Given the description of an element on the screen output the (x, y) to click on. 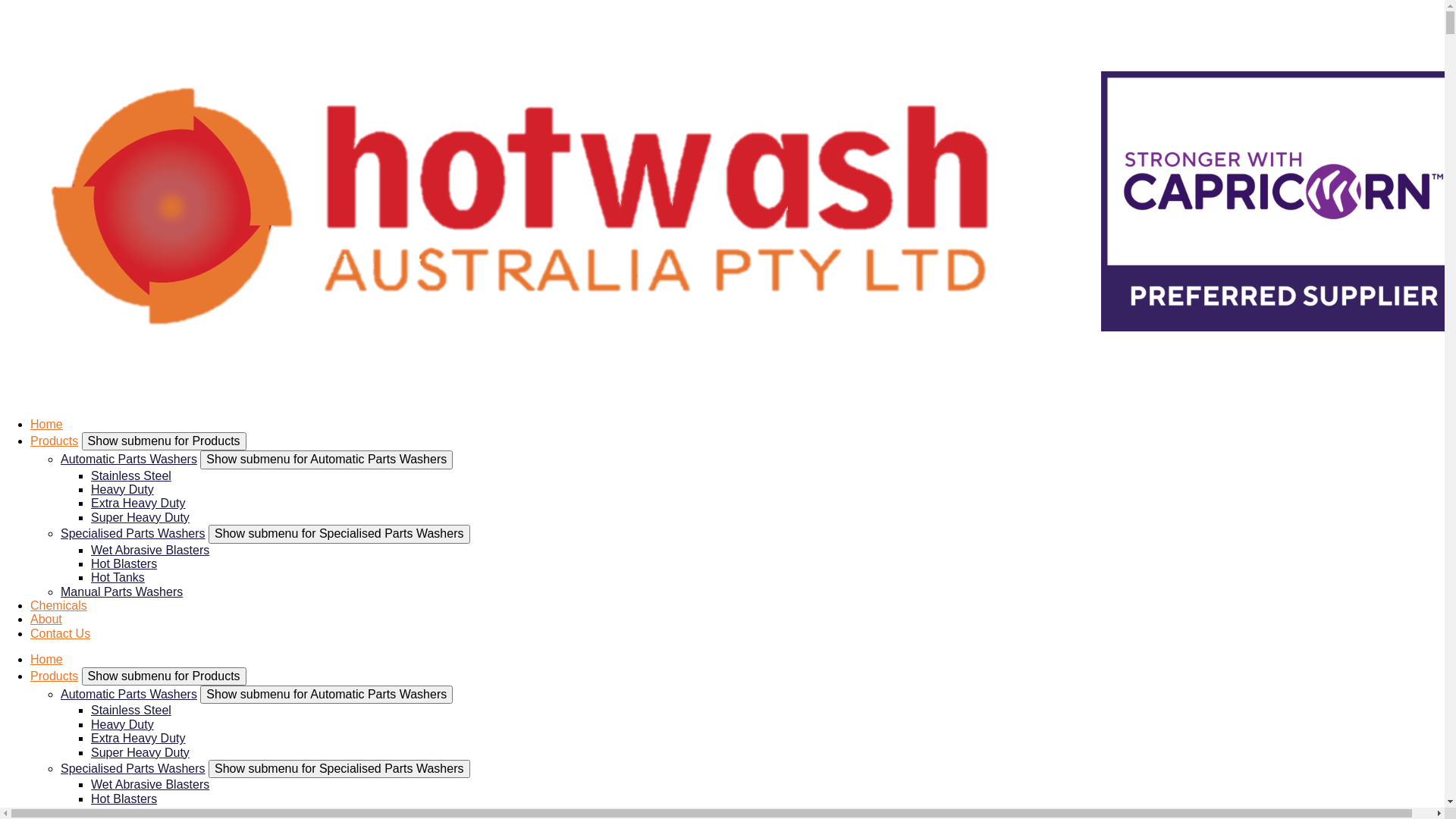
Manual Parts Washers Element type: text (121, 591)
Super Heavy Duty Element type: text (140, 517)
Heavy Duty Element type: text (122, 724)
Extra Heavy Duty Element type: text (138, 737)
About Element type: text (46, 618)
Stainless Steel Element type: text (131, 709)
Super Heavy Duty Element type: text (140, 752)
Automatic Parts Washers Element type: text (128, 693)
Automatic Parts Washers Element type: text (128, 458)
Contact Us Element type: text (60, 633)
Extra Heavy Duty Element type: text (138, 502)
Show submenu for Products Element type: text (163, 441)
Wet Abrasive Blasters Element type: text (150, 784)
Hot Tanks Element type: text (117, 577)
Home Element type: text (46, 423)
Products Element type: text (54, 675)
Show submenu for Specialised Parts Washers Element type: text (338, 768)
Specialised Parts Washers Element type: text (132, 533)
Show submenu for Automatic Parts Washers Element type: text (326, 459)
Hot Blasters Element type: text (123, 563)
Products Element type: text (54, 440)
Wet Abrasive Blasters Element type: text (150, 549)
Heavy Duty Element type: text (122, 489)
Show submenu for Specialised Parts Washers Element type: text (338, 533)
Home Element type: text (46, 658)
Stainless Steel Element type: text (131, 475)
Specialised Parts Washers Element type: text (132, 768)
Show submenu for Automatic Parts Washers Element type: text (326, 694)
Show submenu for Products Element type: text (163, 676)
Hot Blasters Element type: text (123, 798)
Chemicals Element type: text (58, 605)
